Given the description of an element on the screen output the (x, y) to click on. 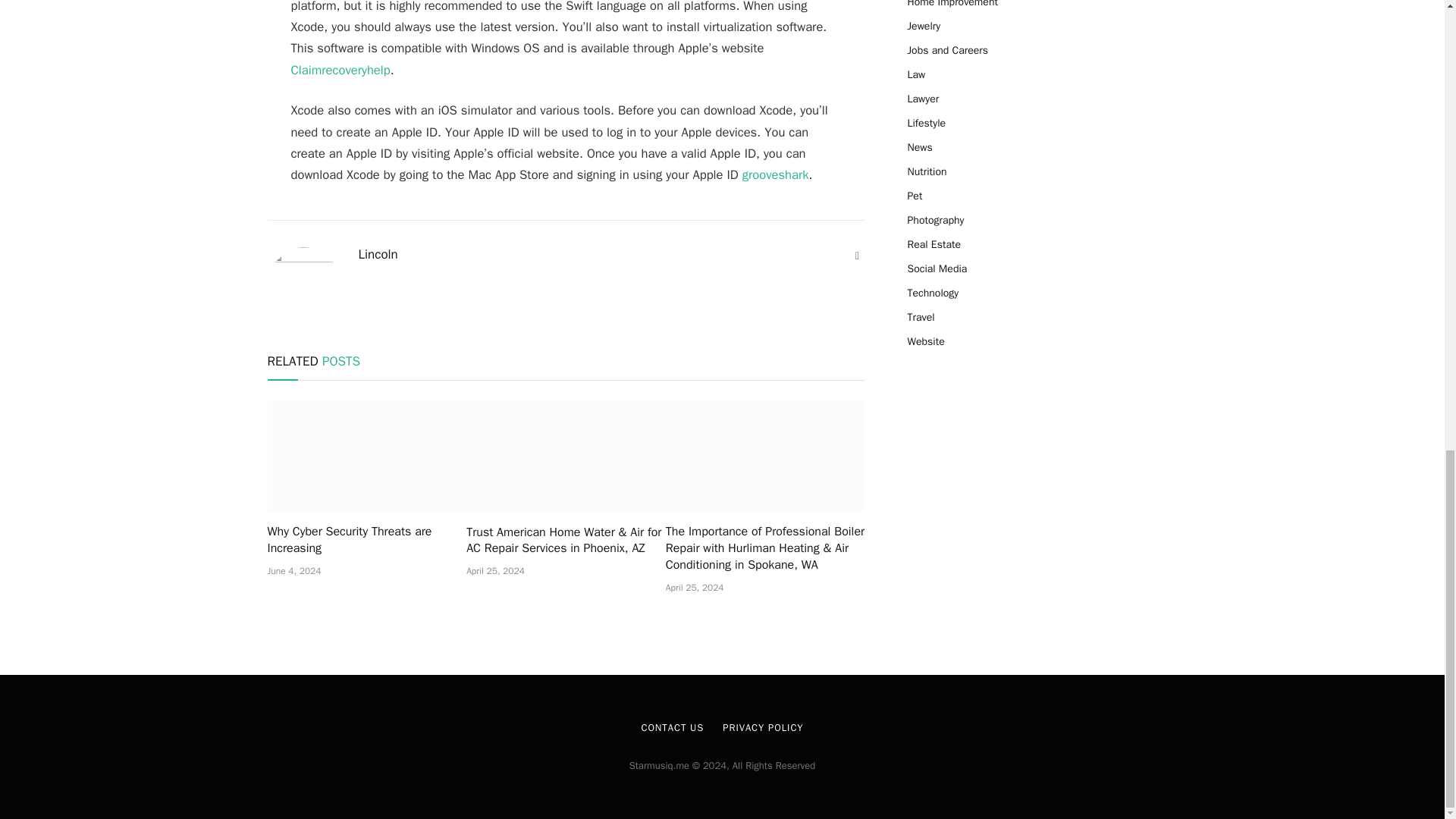
Website (856, 255)
Claimrecoveryhelp (340, 69)
Lincoln (377, 254)
Why Cyber Security Threats are Increasing (365, 456)
Posts by Lincoln (377, 254)
Why Cyber Security Threats are Increasing (365, 540)
grooveshark (775, 174)
Website (856, 255)
